Given the description of an element on the screen output the (x, y) to click on. 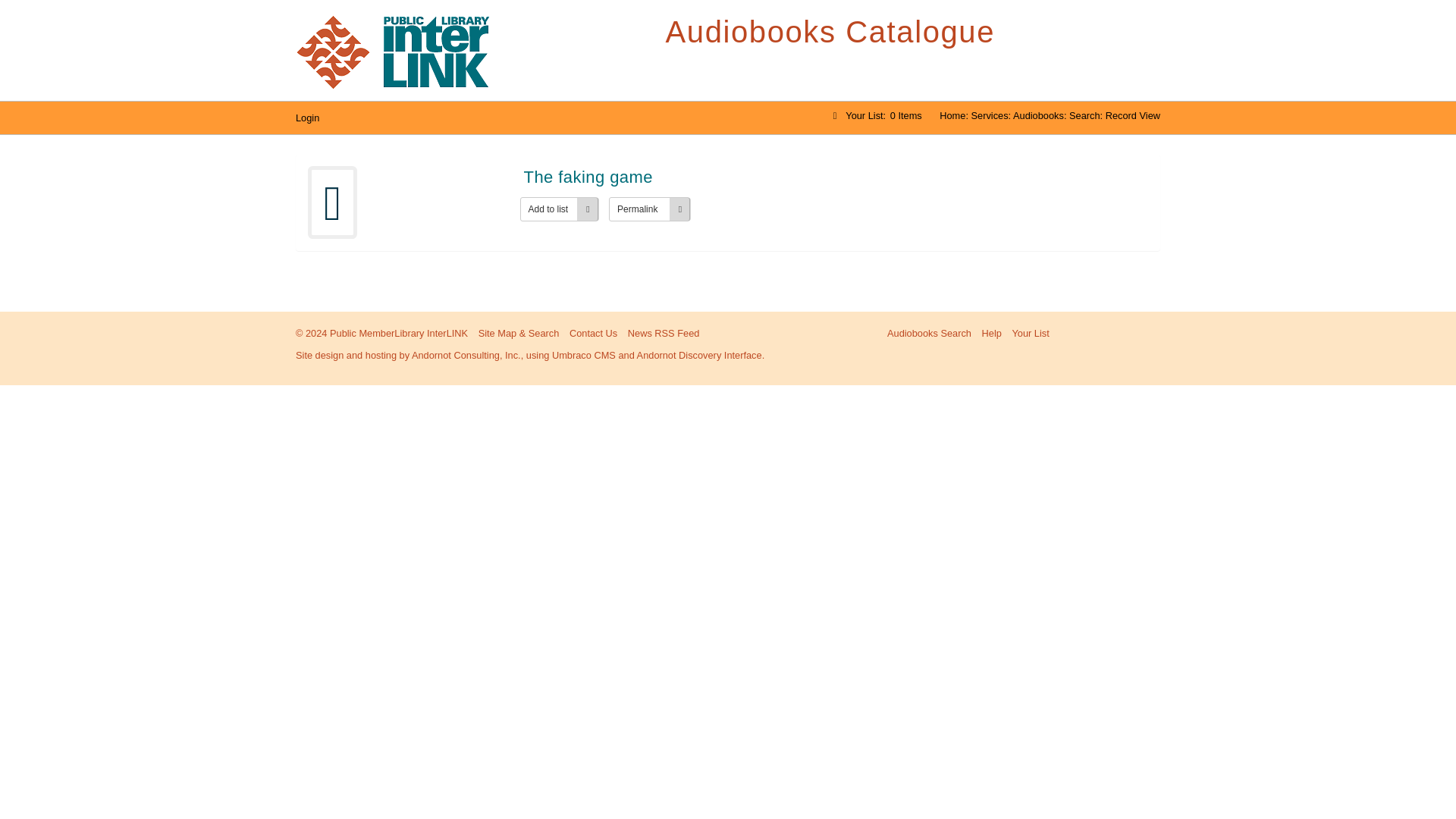
Audiobooks Catalogue (912, 31)
Your List (1029, 333)
Andornot Consulting, Inc. (466, 354)
Permalink for The faking game (649, 209)
Search (1084, 115)
Permalink (649, 209)
 Your List: 0 Items (875, 115)
Audiobooks (1038, 115)
add to list (558, 209)
Home (952, 115)
Full Record (835, 177)
Add to list (558, 209)
Services (990, 115)
Umbraco CMS (583, 354)
Contact Us (593, 333)
